Given the description of an element on the screen output the (x, y) to click on. 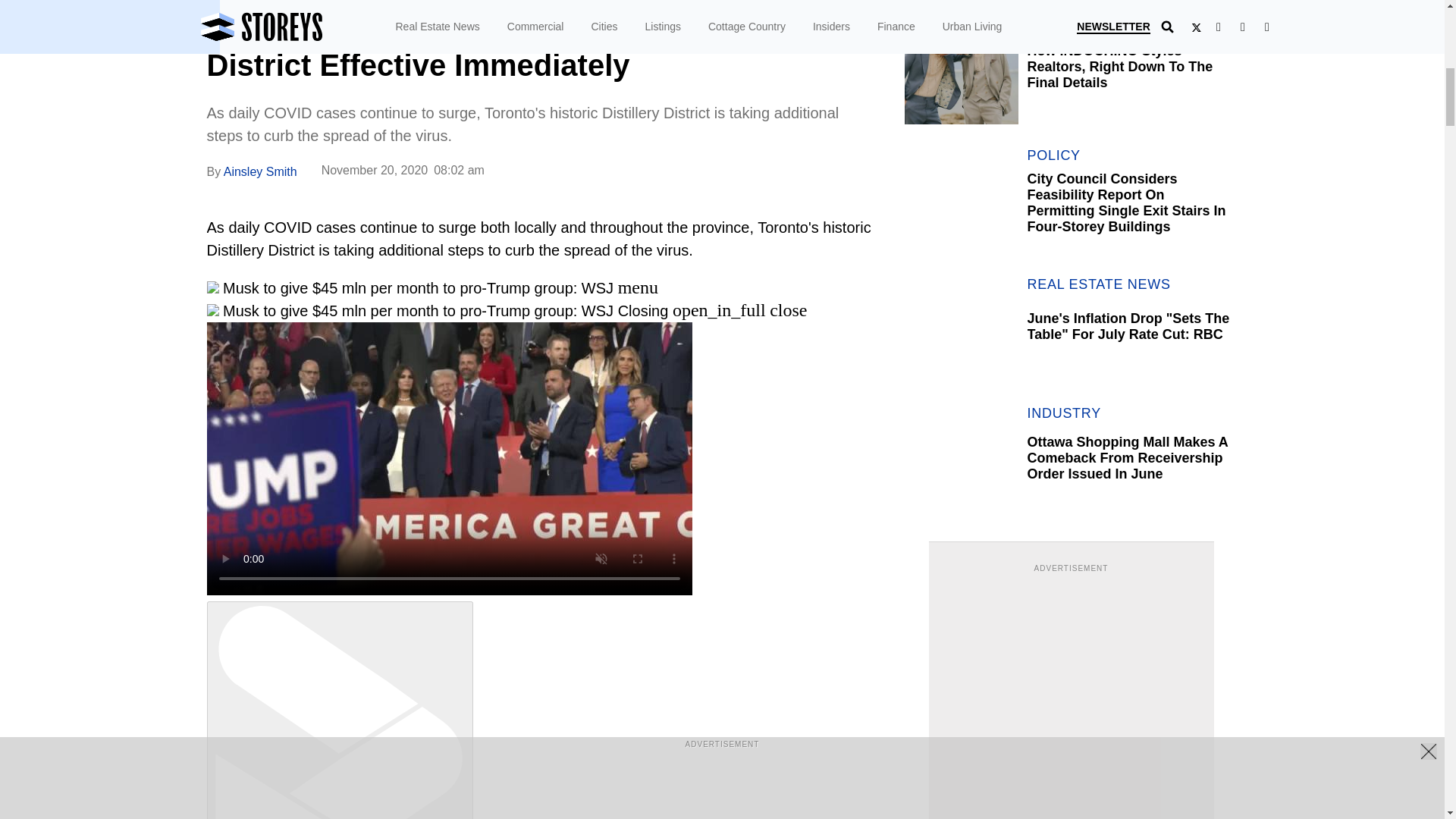
3rd party ad content (1070, 669)
